Given the description of an element on the screen output the (x, y) to click on. 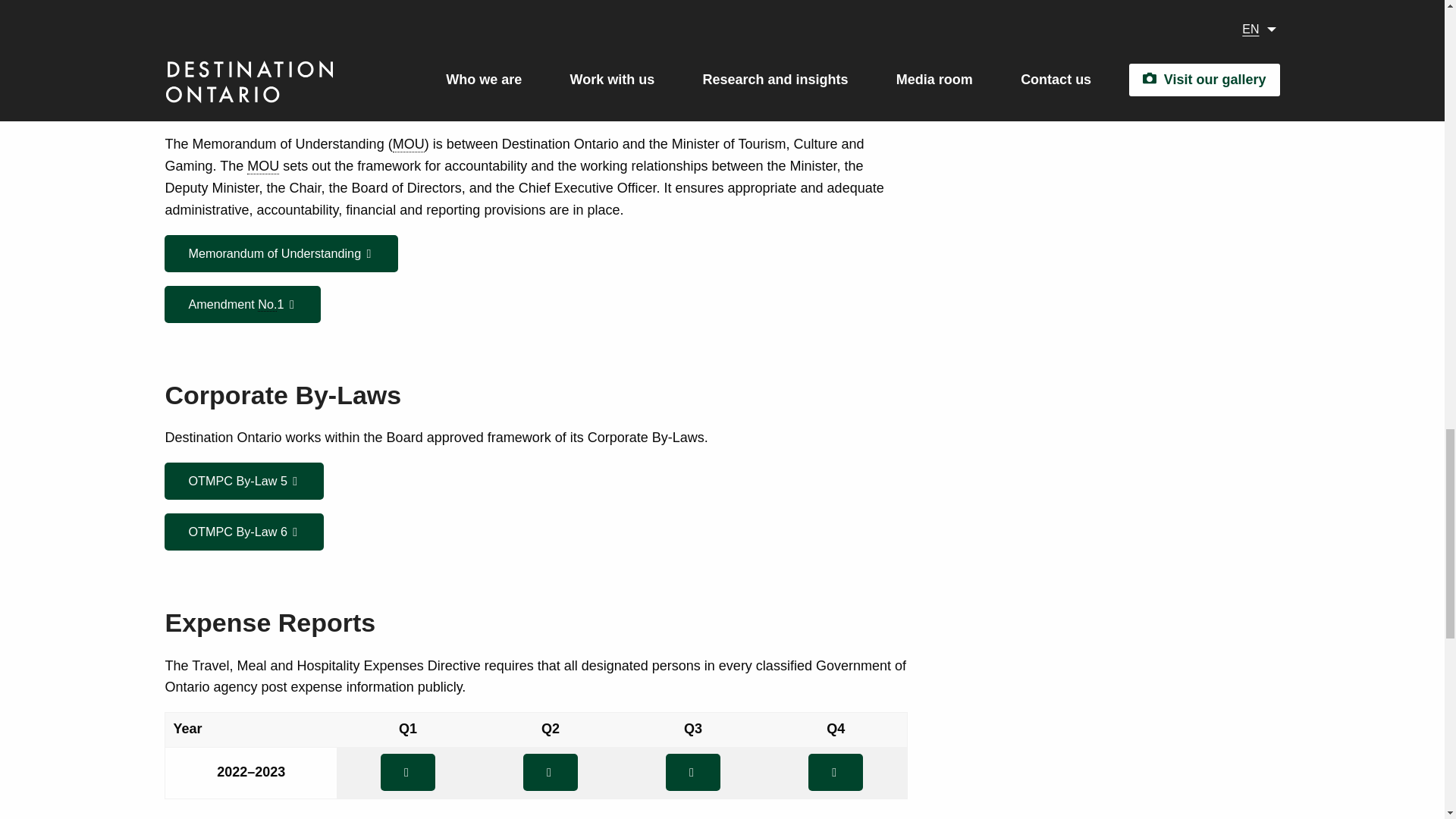
Memorandum of Understanding (409, 144)
Memorandum of Understanding (263, 166)
number (266, 304)
